Given the description of an element on the screen output the (x, y) to click on. 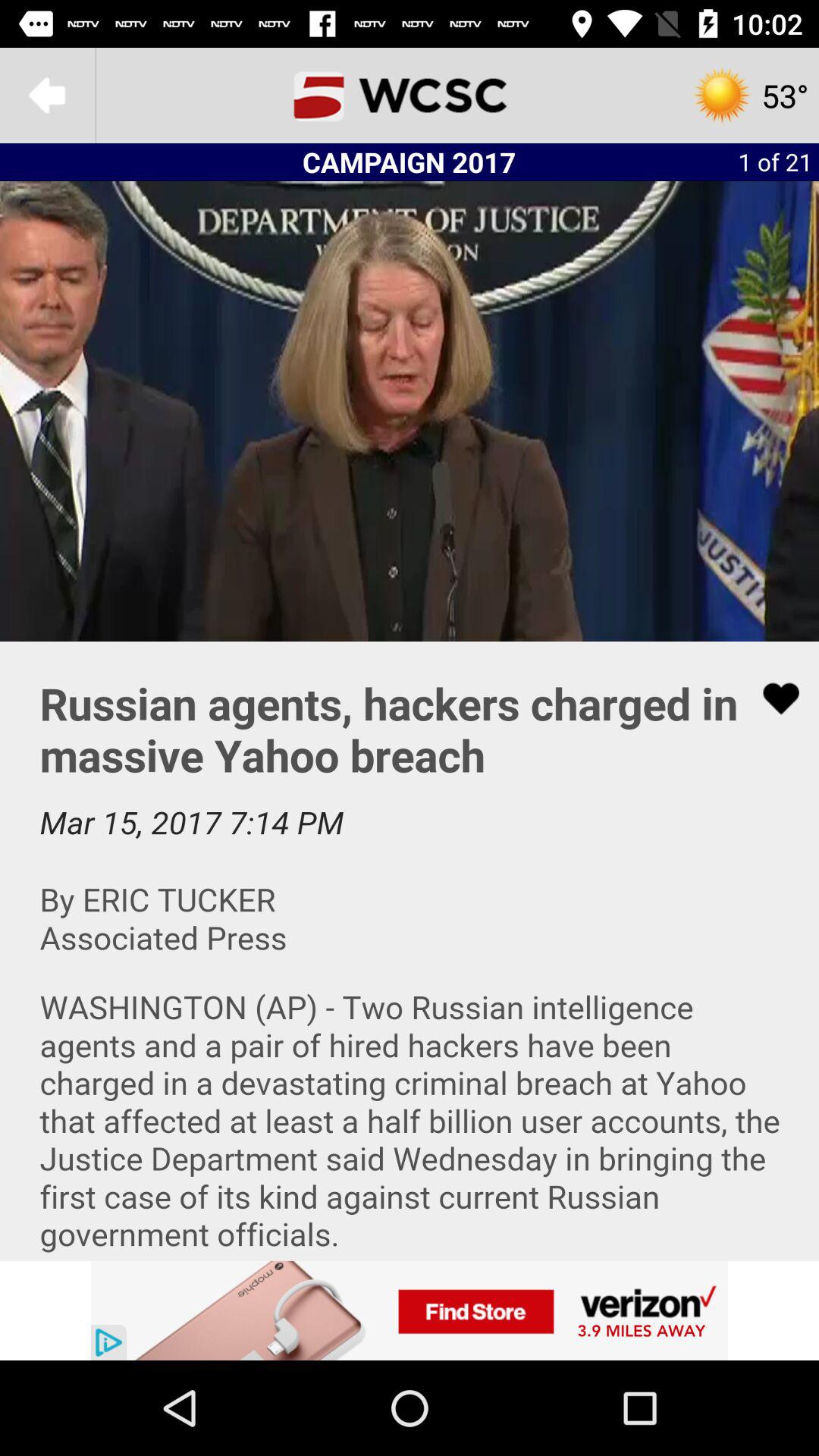
home page (409, 95)
